Given the description of an element on the screen output the (x, y) to click on. 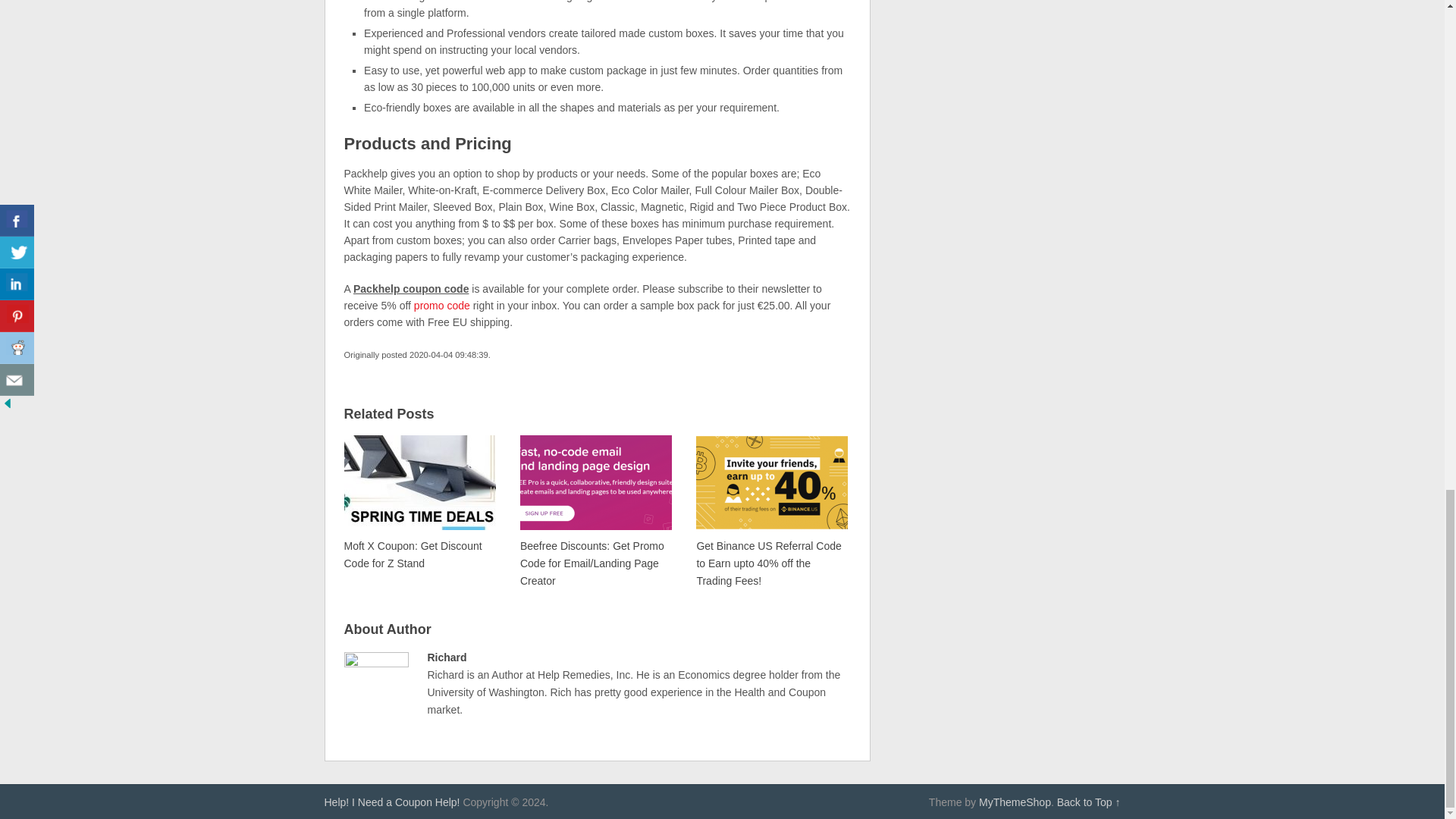
Moft X Coupon: Get Discount Code for Z Stand (419, 501)
MyThemeShop (1014, 802)
Help! I Need a Coupon Help! (392, 802)
Moft X Coupon: Get Discount Code for Z Stand (419, 501)
promo code (441, 305)
